Given the description of an element on the screen output the (x, y) to click on. 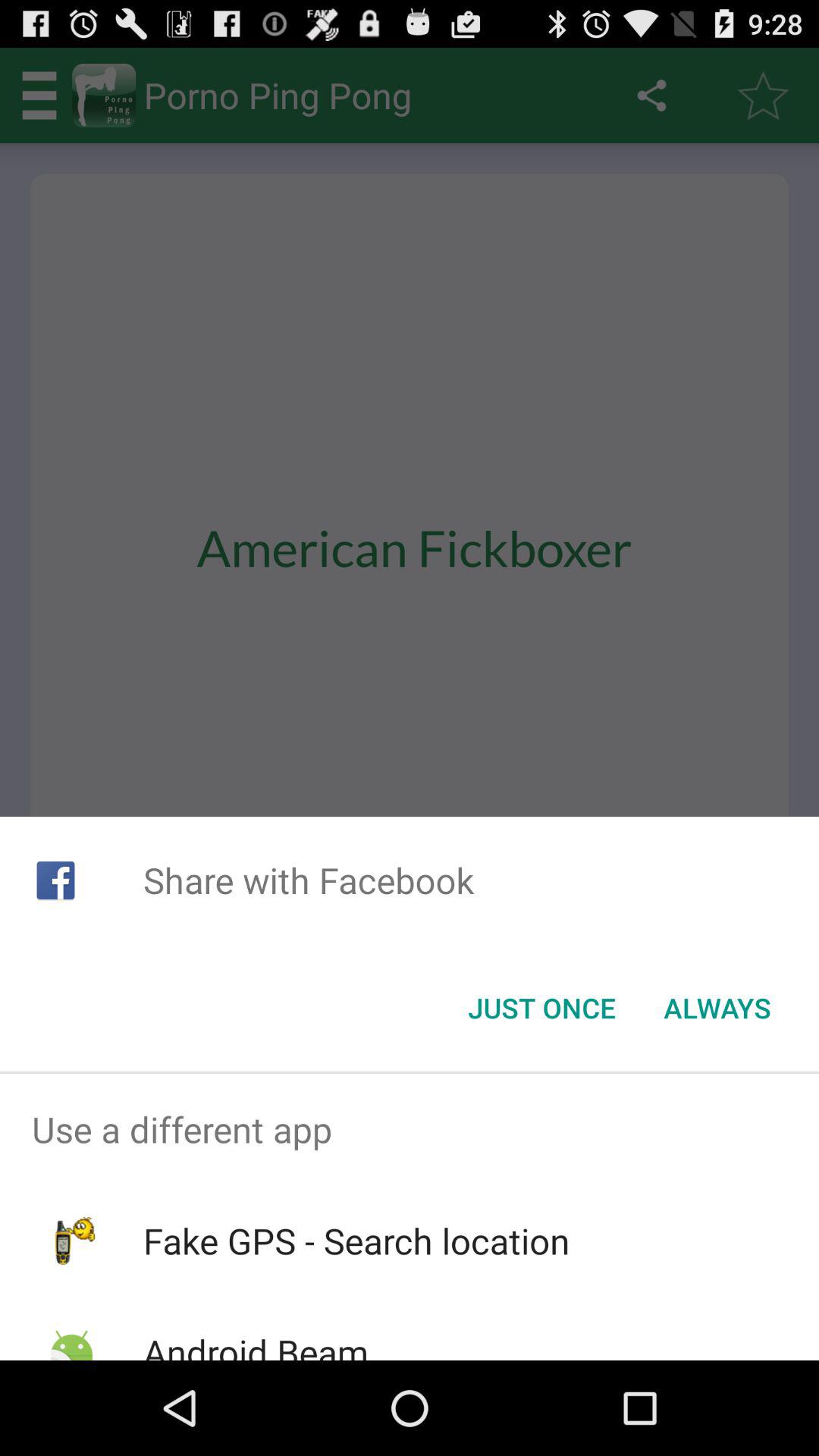
turn off icon next to the always (541, 1007)
